Given the description of an element on the screen output the (x, y) to click on. 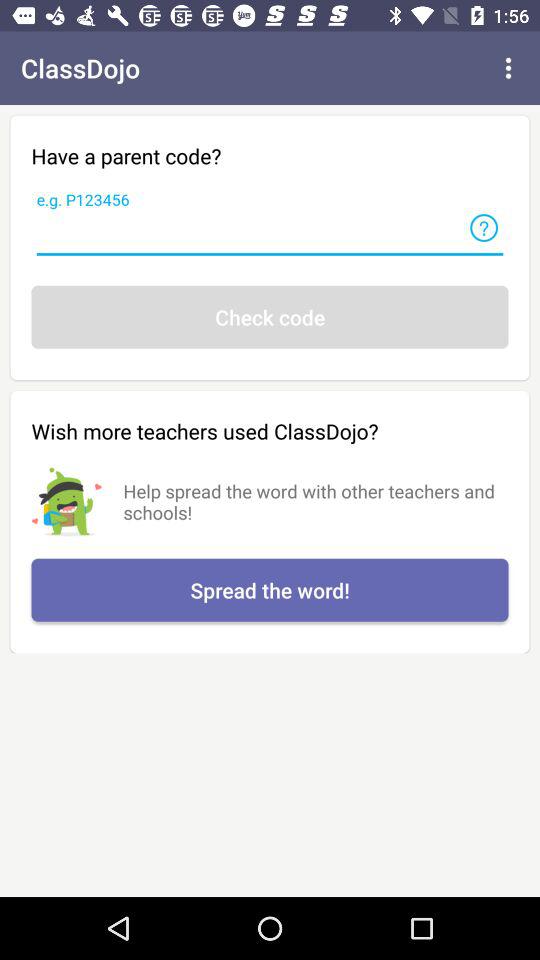
icon page (483, 227)
